Given the description of an element on the screen output the (x, y) to click on. 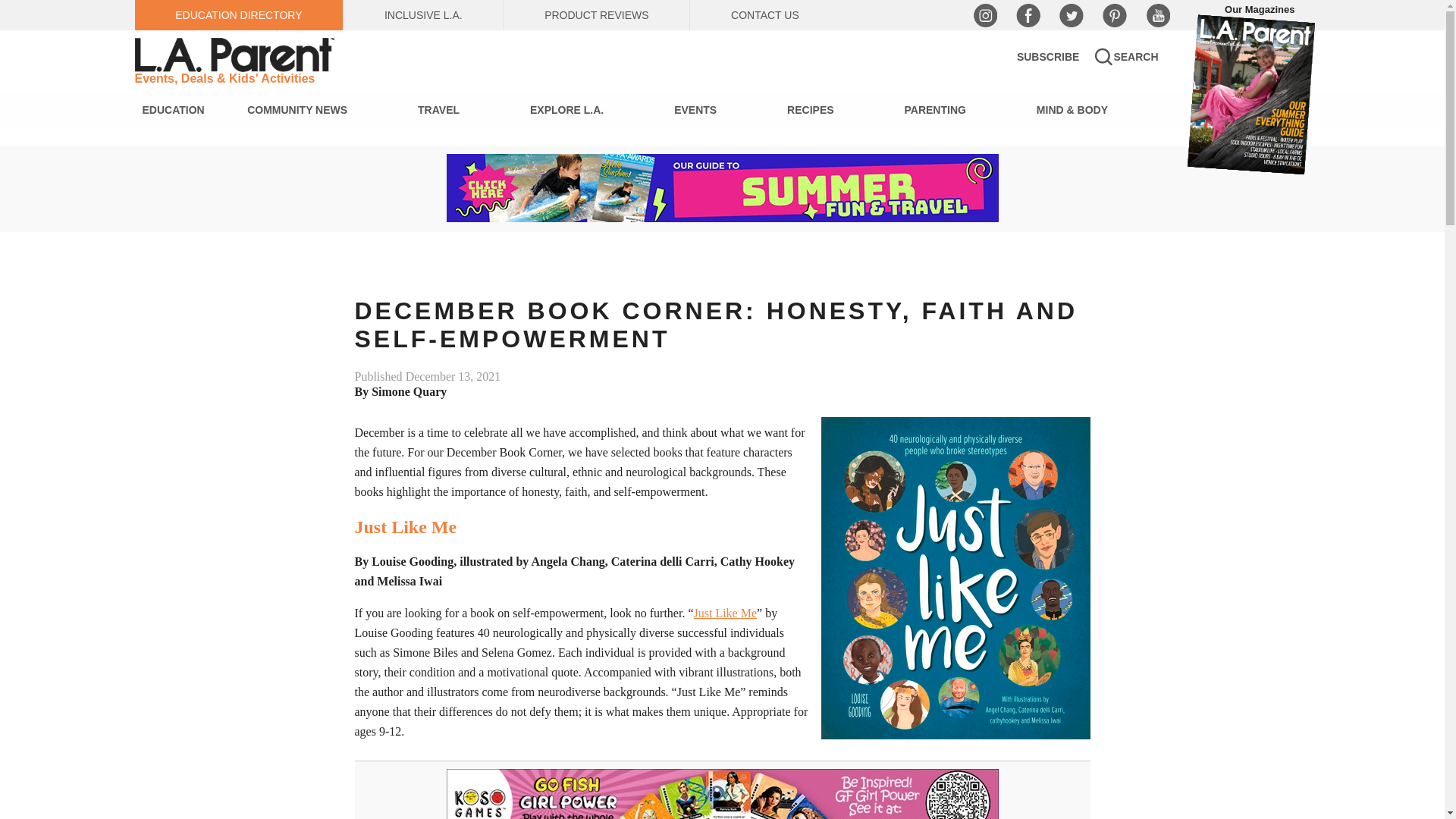
CONTACT US (765, 15)
L.A. Parent (237, 54)
SUBSCRIBE (1047, 56)
Pinterest (1114, 15)
Facebook (1028, 15)
PRODUCT REVIEWS (595, 15)
Instagram (983, 15)
EDUCATION DIRECTORY (239, 15)
Twitter (1070, 15)
INCLUSIVE L.A. (422, 15)
YouTube (1156, 15)
